Given the description of an element on the screen output the (x, y) to click on. 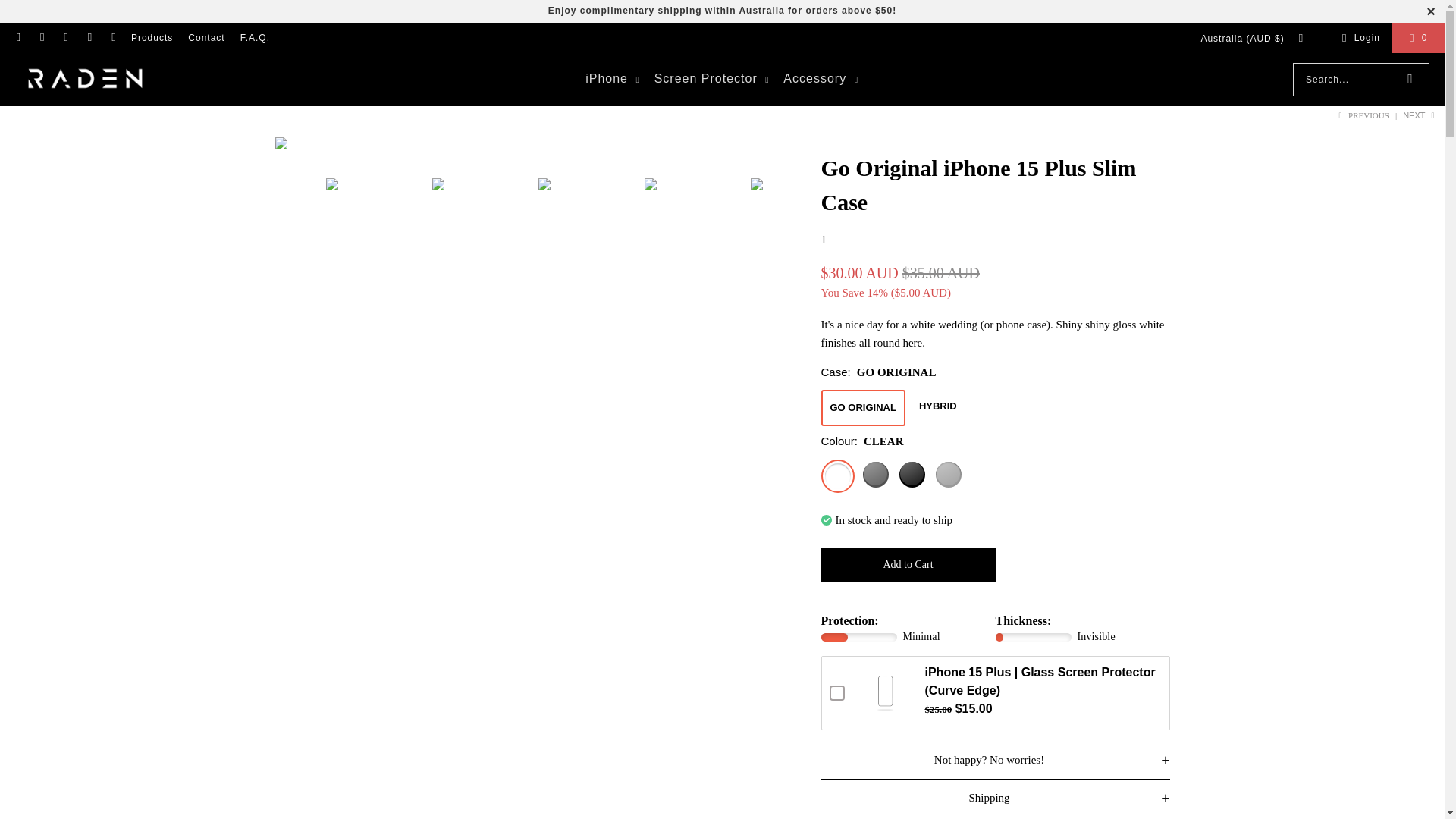
Email Raden (17, 37)
Next (1420, 114)
Raden on Instagram (65, 37)
Raden on Facebook (41, 37)
Raden on Pinterest (89, 37)
Previous (1362, 114)
Raden on Twitter (112, 37)
Raden (84, 79)
My Account  (1358, 37)
